Given the description of an element on the screen output the (x, y) to click on. 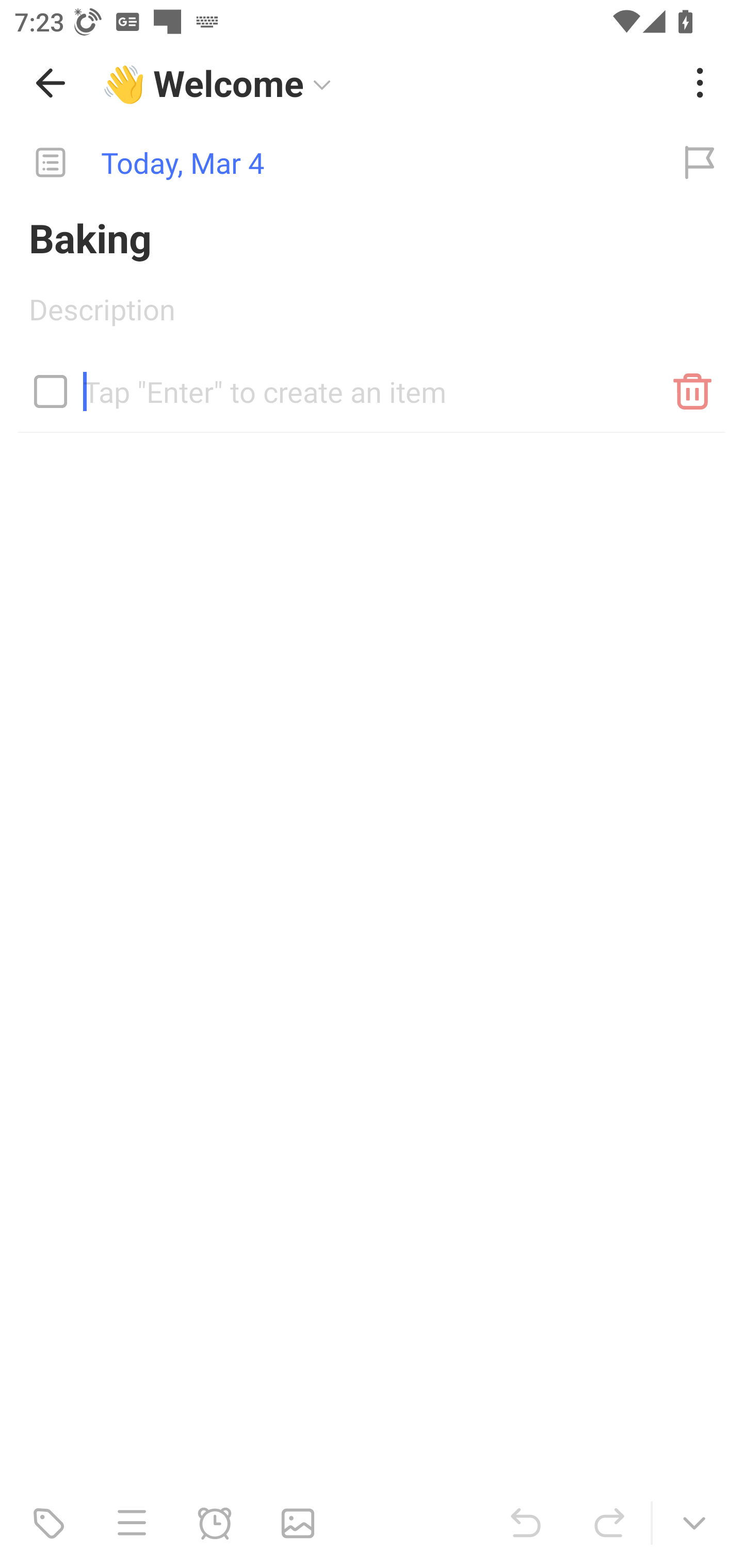
👋 Welcome (384, 82)
Today, Mar 4  (328, 163)
Baking (371, 237)
Description (371, 315)
  (50, 390)
Tap "Enter" to create an item (371, 383)
